Given the description of an element on the screen output the (x, y) to click on. 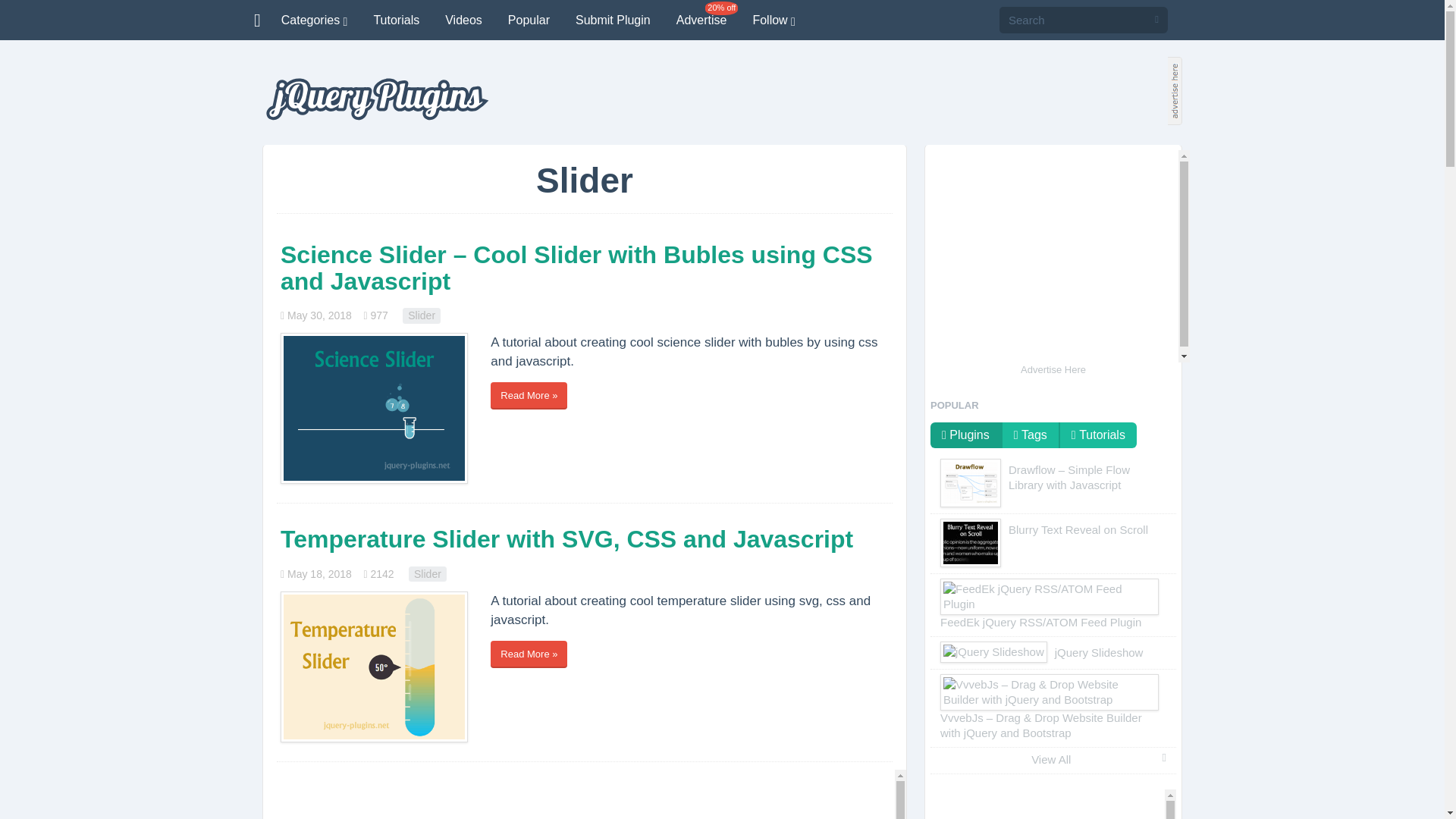
Popular (528, 20)
Categories (314, 20)
Submit Plugin (612, 20)
Videos (463, 20)
Tutorials (395, 20)
